Given the description of an element on the screen output the (x, y) to click on. 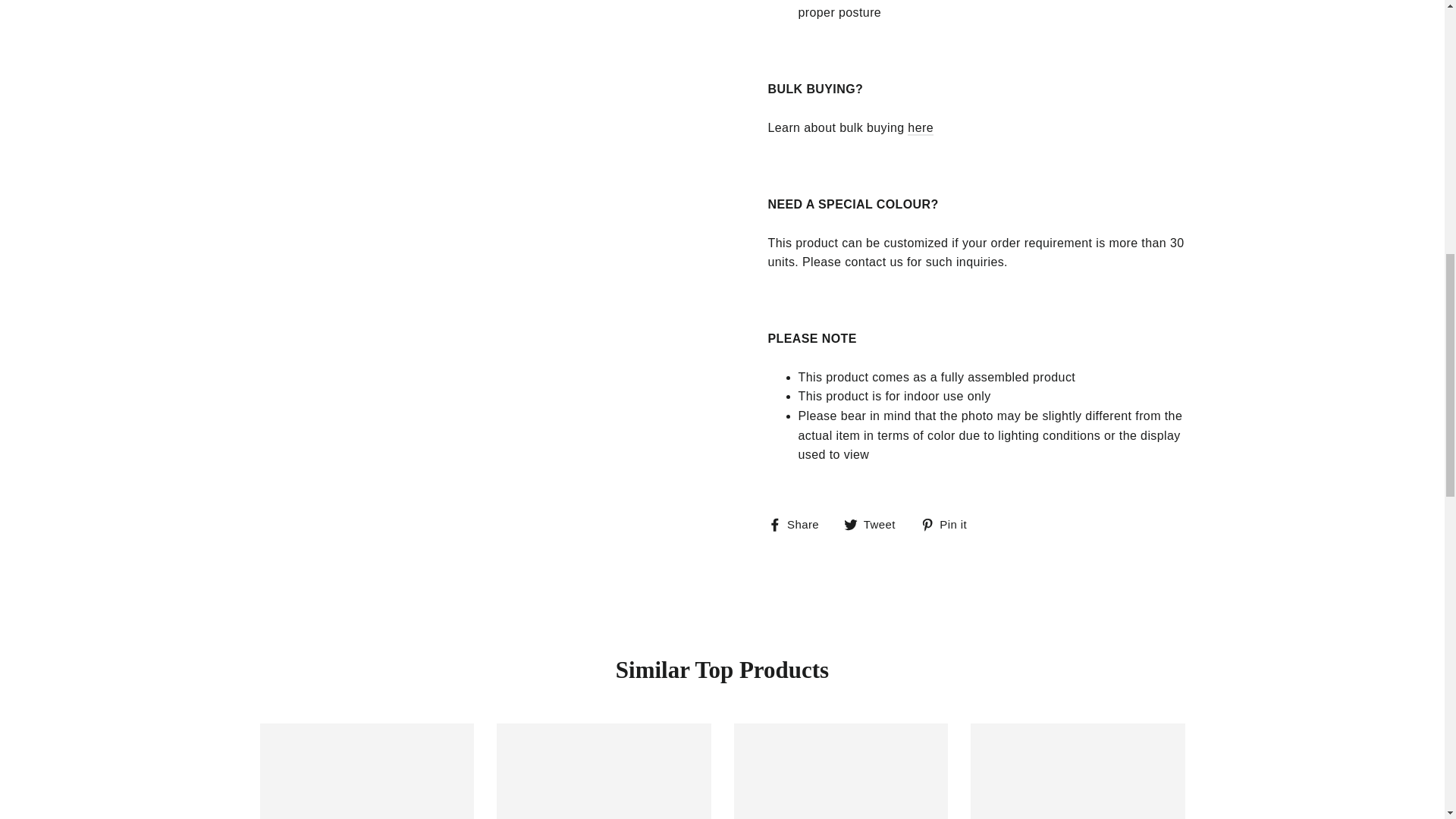
Buy bulk bar stools for best price in Sri Lanka (920, 128)
Share on Facebook (798, 524)
Pin on Pinterest (949, 524)
Tweet on Twitter (875, 524)
